Given the description of an element on the screen output the (x, y) to click on. 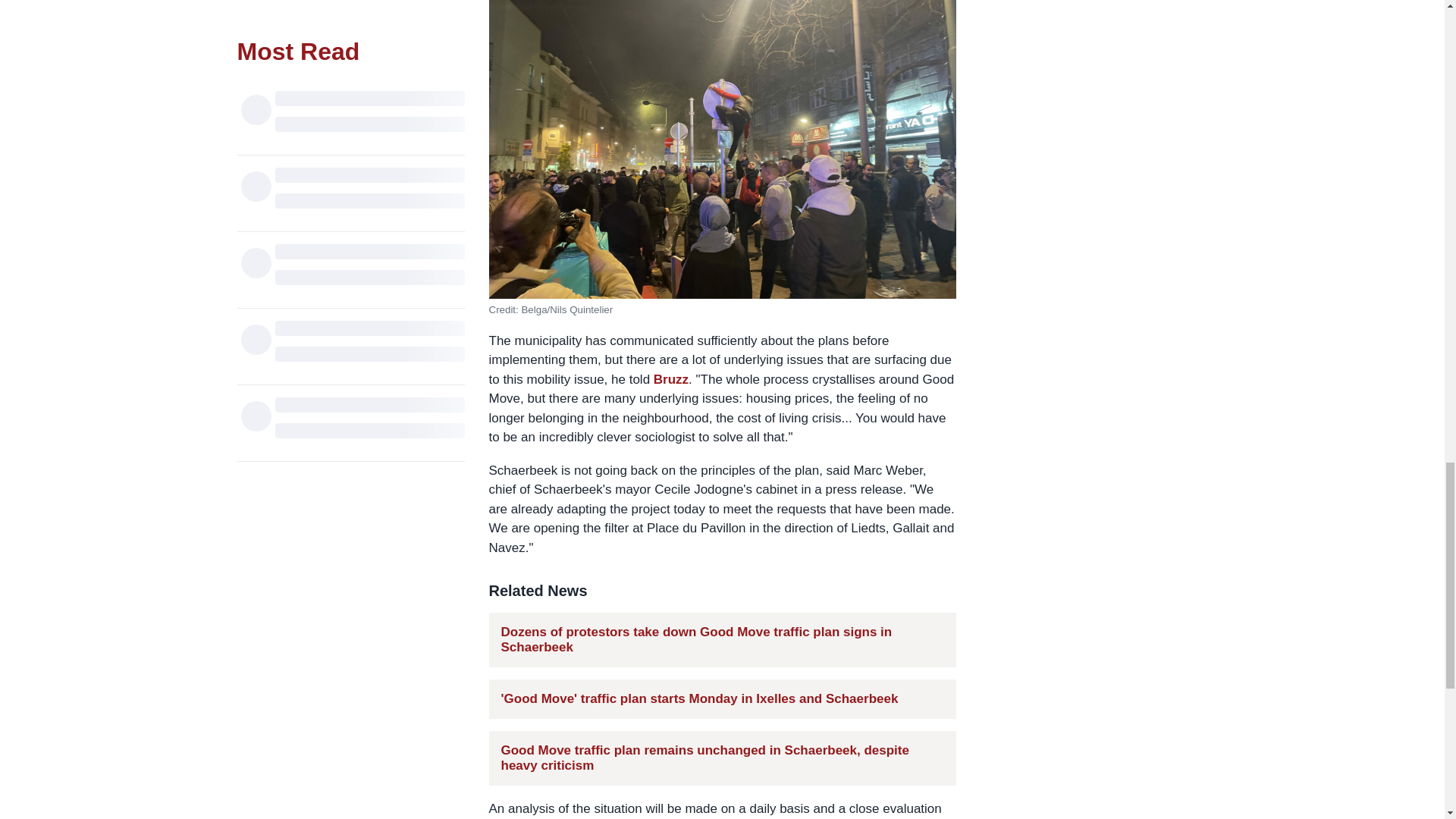
Bruzz (670, 378)
